Given the description of an element on the screen output the (x, y) to click on. 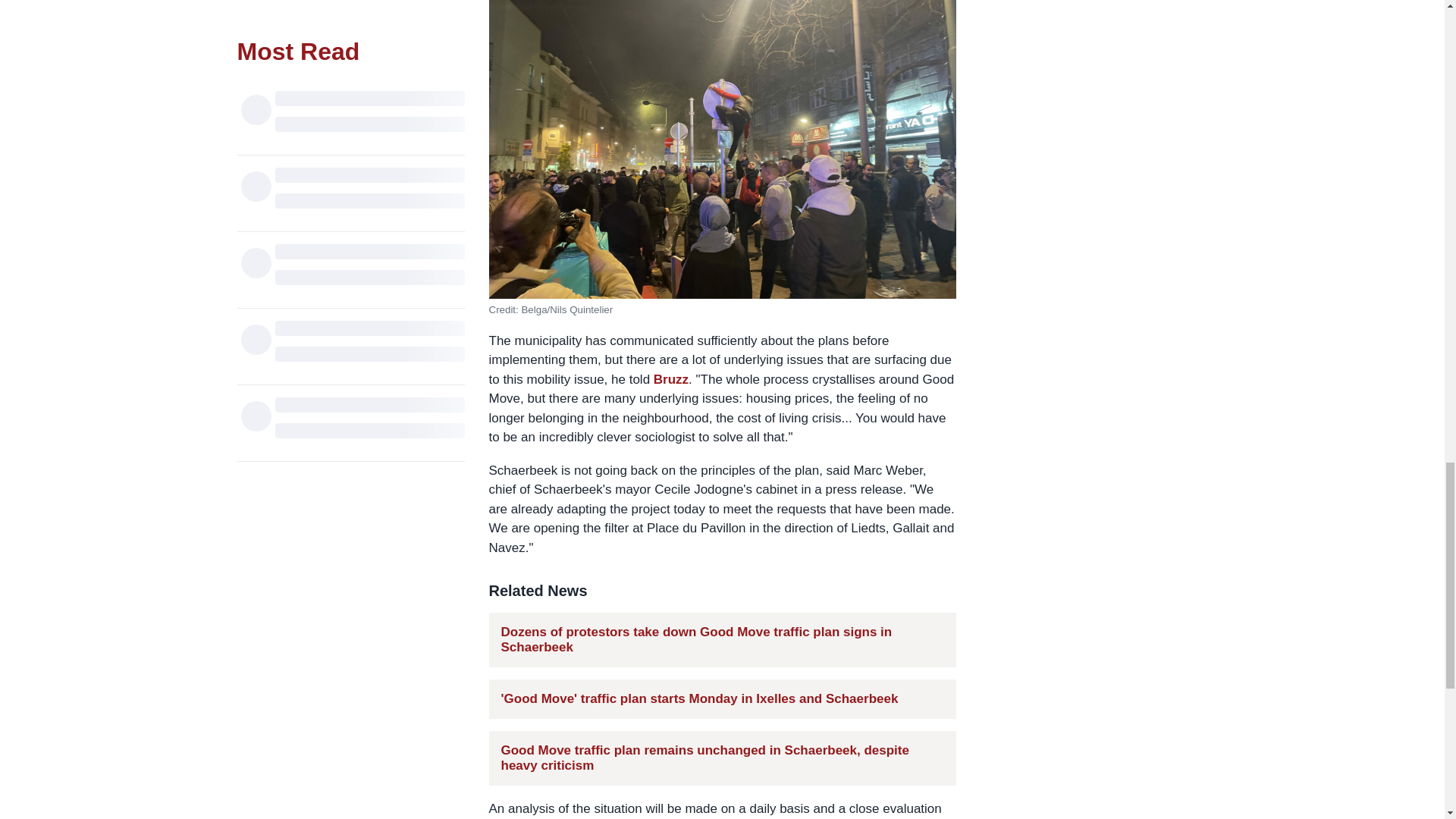
Bruzz (670, 378)
